Given the description of an element on the screen output the (x, y) to click on. 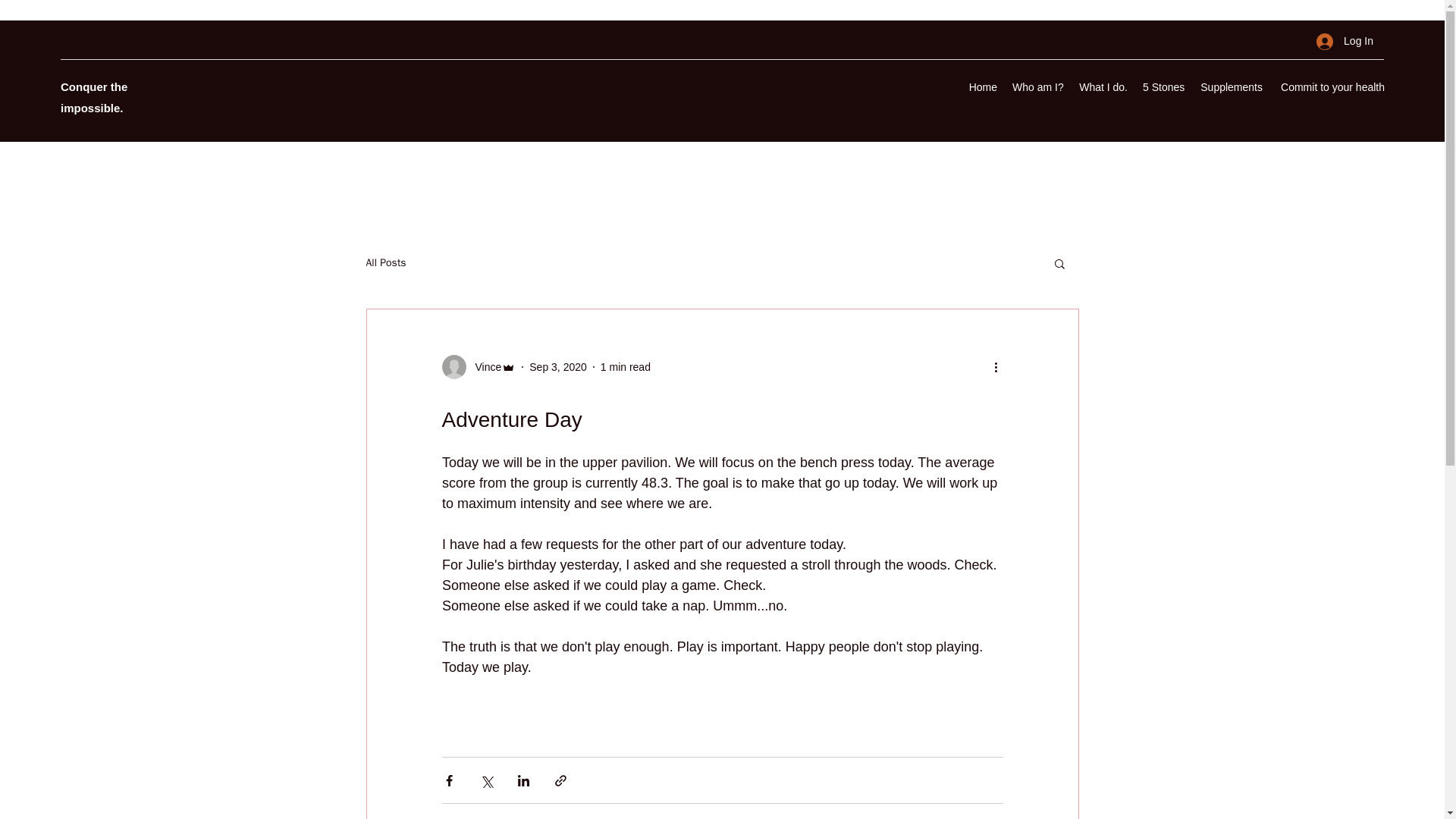
Vince (482, 367)
1 min read (624, 367)
Log In (1230, 87)
5 Stones (1345, 41)
Home (1163, 87)
Vince (982, 87)
What I do. (478, 366)
All Posts (1102, 87)
Commit to your health (385, 263)
Who am I? (1330, 87)
Sep 3, 2020 (1037, 87)
